Given the description of an element on the screen output the (x, y) to click on. 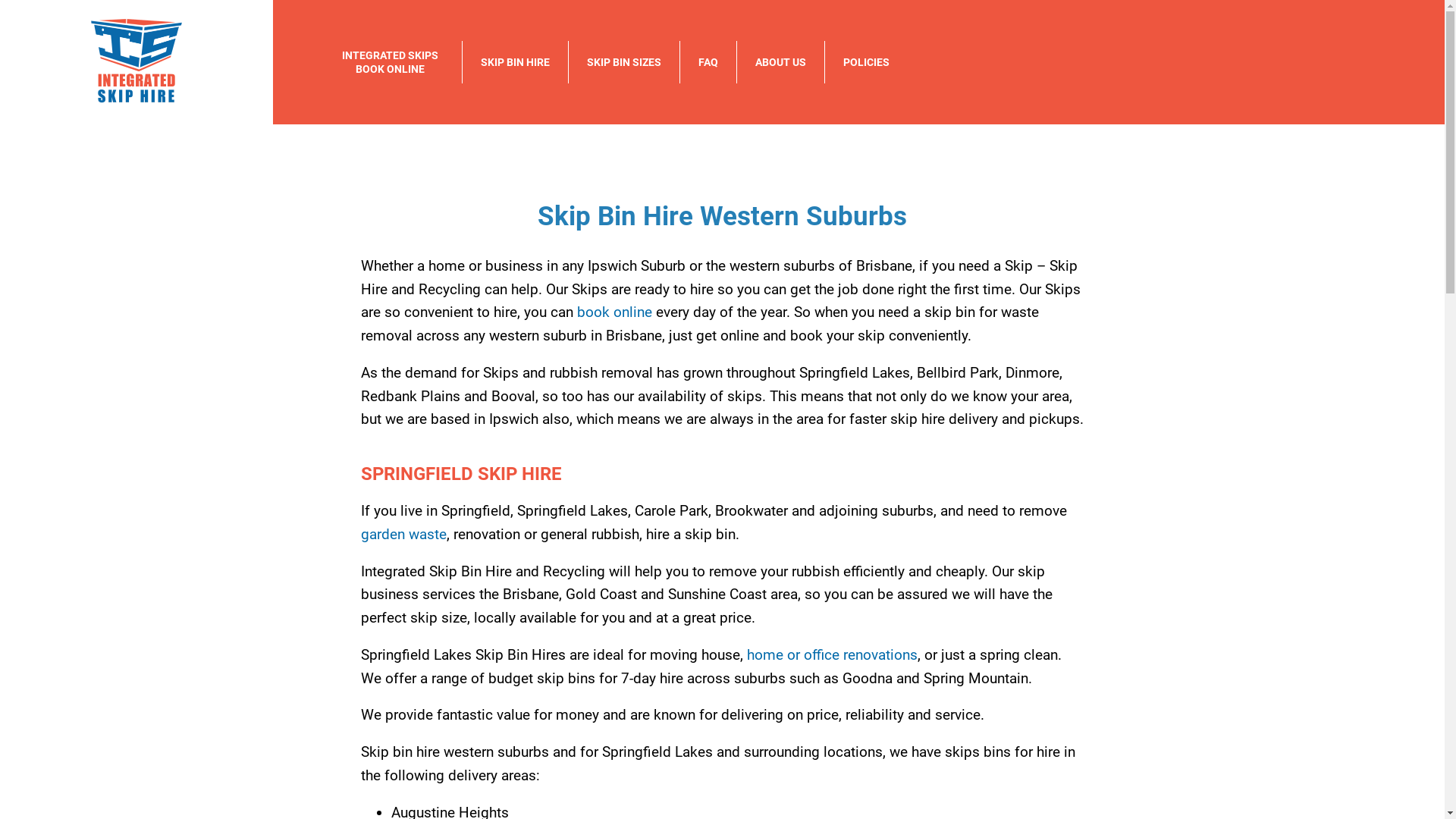
POLICIES Element type: text (866, 61)
SKIP BIN HIRE Element type: text (514, 61)
FAQ Element type: text (708, 61)
SKIP BIN SIZES Element type: text (624, 61)
book online Element type: text (613, 311)
home or office renovations Element type: text (831, 654)
garden waste Element type: text (403, 533)
ABOUT US Element type: text (780, 61)
INTEGRATED SKIPS BOOK ONLINE Element type: text (389, 61)
